Given the description of an element on the screen output the (x, y) to click on. 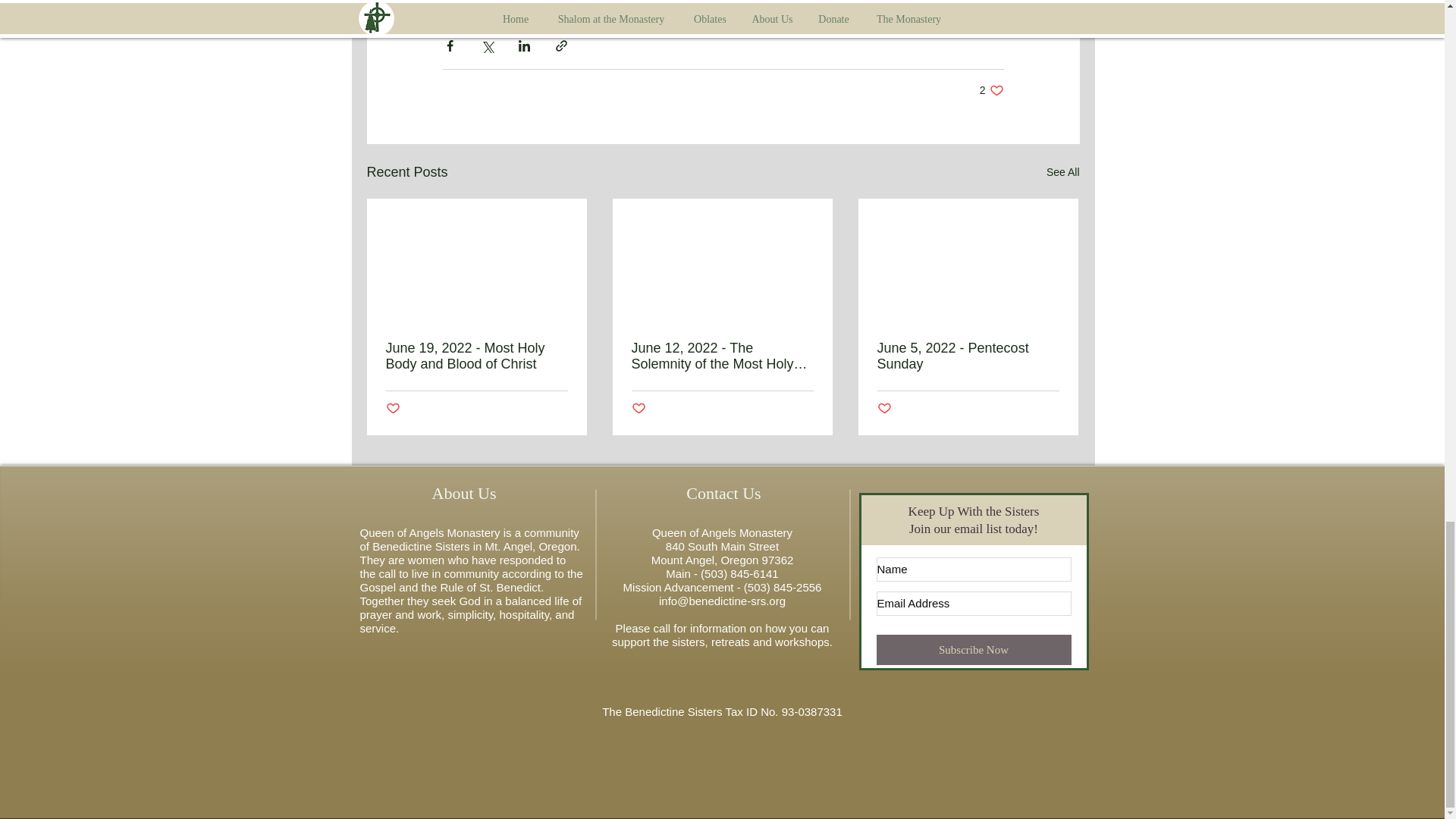
June 5, 2022 - Pentecost Sunday (967, 356)
June 12, 2022 - The Solemnity of the Most Holy Trinity (721, 356)
Subscribe Now (973, 649)
See All (1063, 172)
June 19, 2022 - Most Holy Body and Blood of Christ (476, 356)
Post not marked as liked (991, 90)
Post not marked as liked (391, 408)
Post not marked as liked (637, 408)
